Given the description of an element on the screen output the (x, y) to click on. 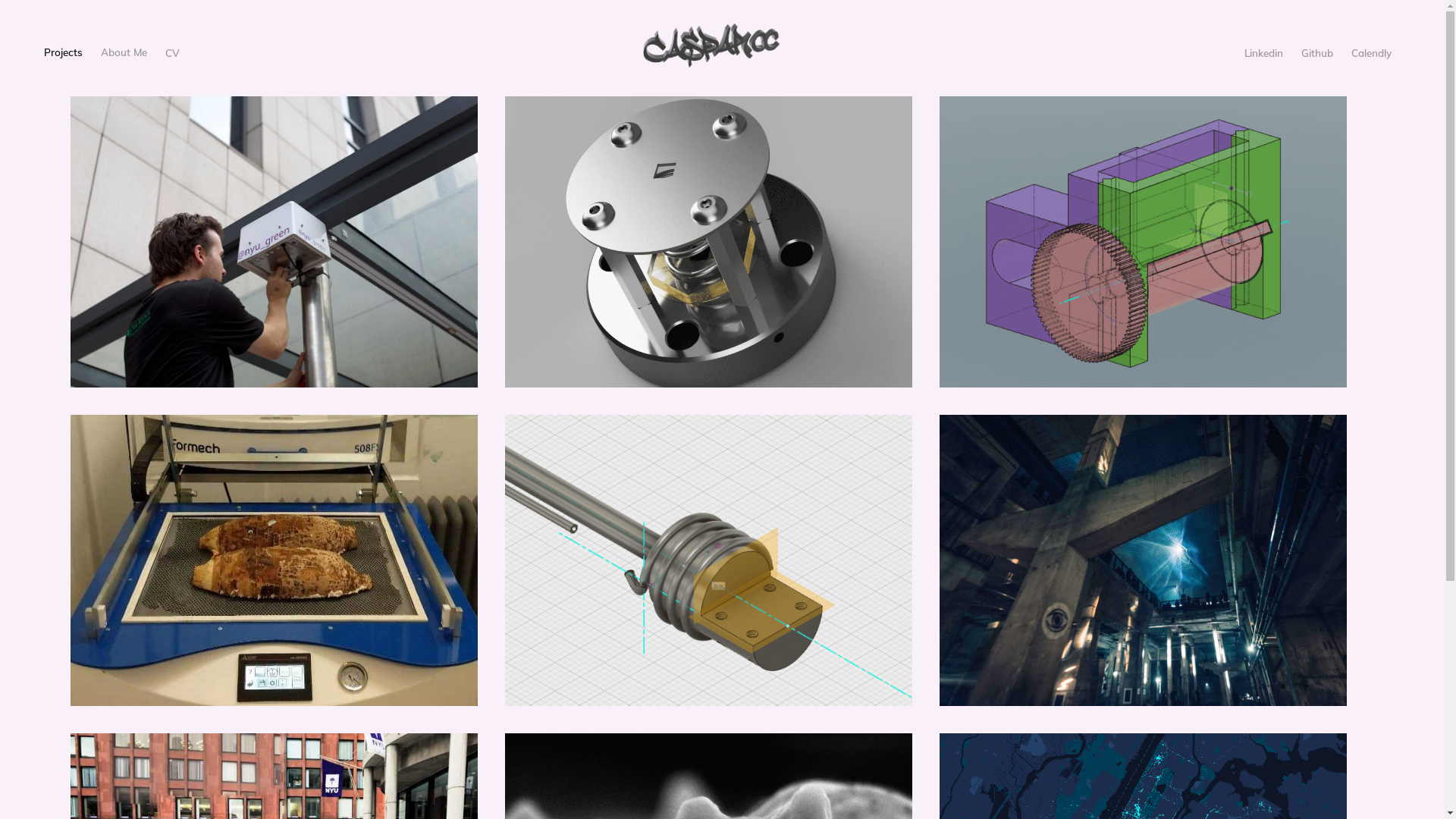
Linkedin Element type: text (1263, 52)
Github Element type: text (1317, 52)
Projects Element type: text (62, 52)
CV Element type: text (172, 52)
Calendly Element type: text (1371, 52)
About Me Element type: text (123, 52)
